Given the description of an element on the screen output the (x, y) to click on. 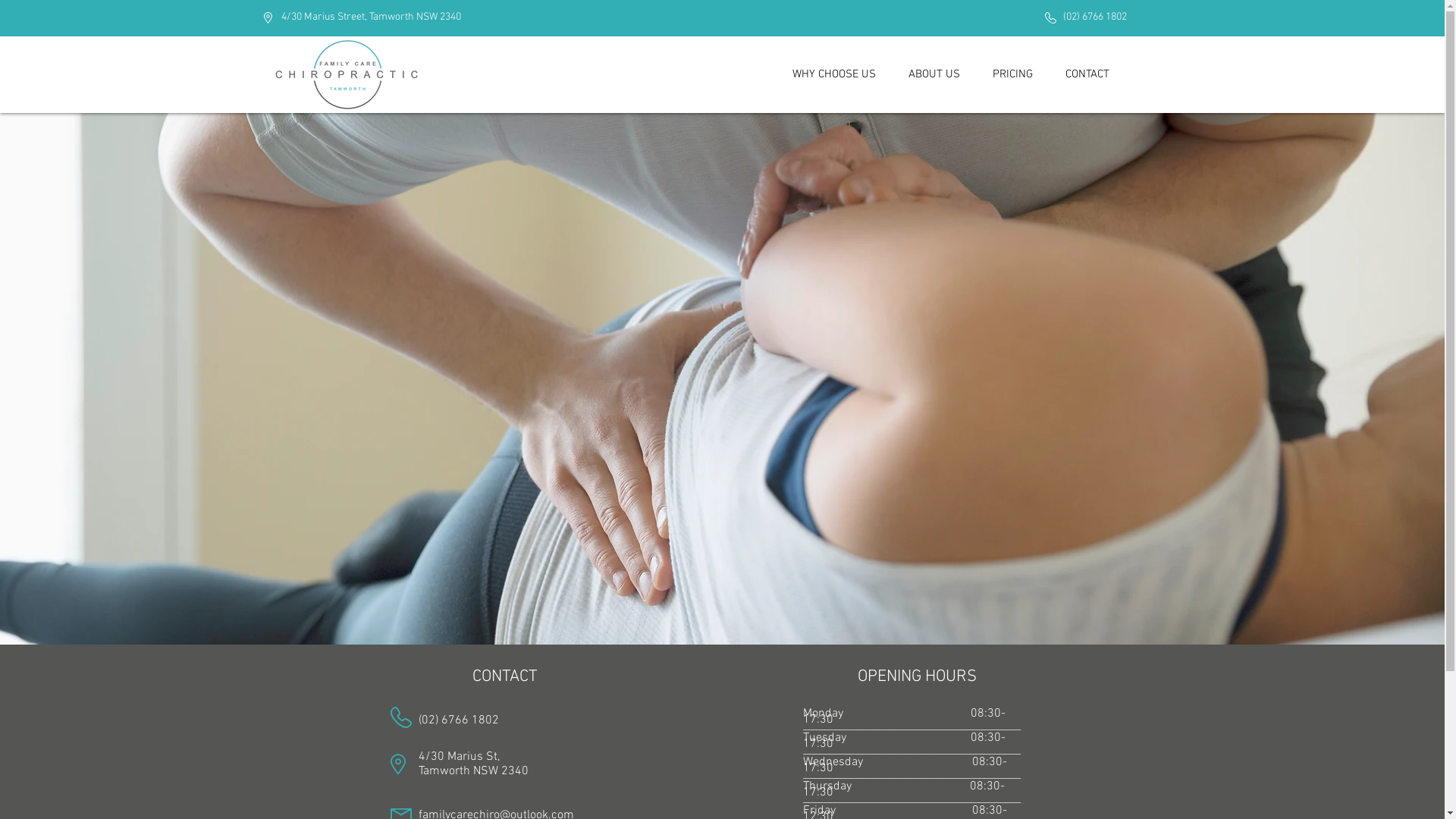
PRICING Element type: text (1012, 74)
CONTACT Element type: text (1087, 74)
WHY CHOOSE US Element type: text (833, 74)
(02) 6766 1802 Element type: text (458, 720)
ABOUT US Element type: text (933, 74)
